Given the description of an element on the screen output the (x, y) to click on. 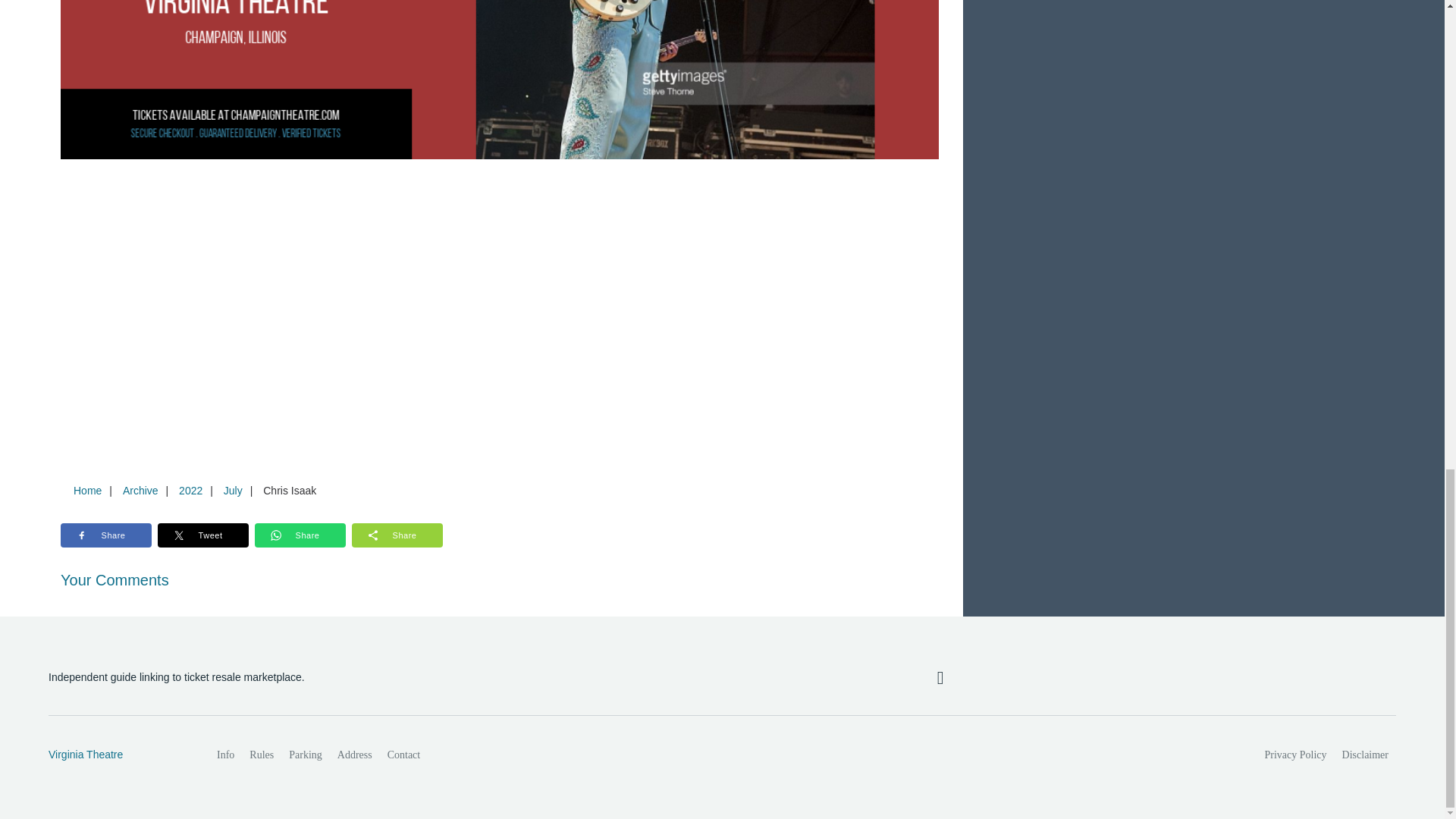
Address (355, 755)
Parking (305, 755)
Info (225, 755)
July (232, 490)
Virginia Theatre (116, 754)
Contact (404, 755)
Archive (140, 490)
2022 (190, 490)
Rules (261, 755)
